Given the description of an element on the screen output the (x, y) to click on. 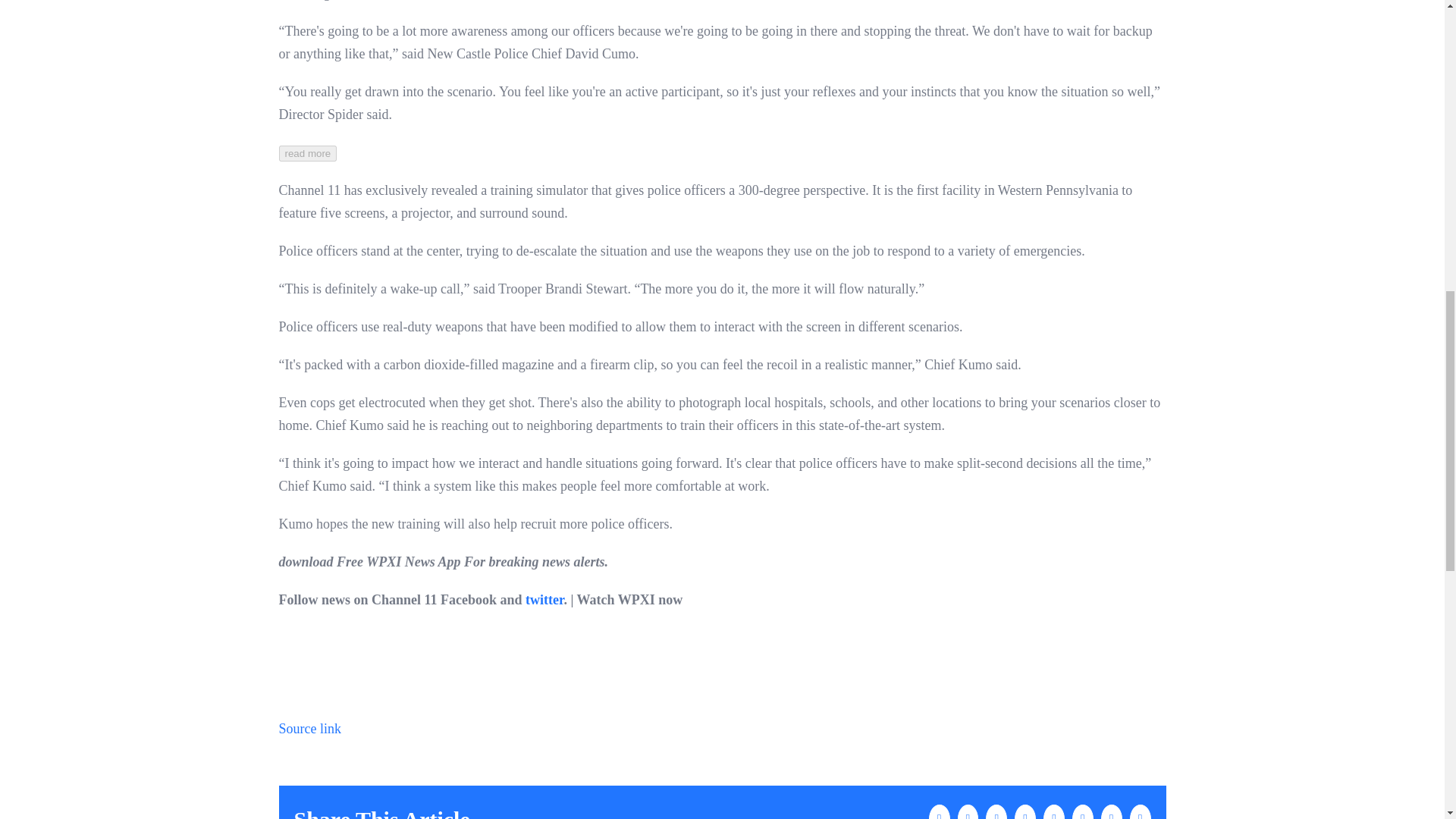
Vk (1111, 811)
Email (1140, 811)
Twitter (968, 811)
Whatsapp (1024, 811)
Source link (310, 728)
Email (1140, 811)
Tumblr (1053, 811)
Pinterest (1082, 811)
Facebook (939, 811)
LinkedIn (996, 811)
